Given the description of an element on the screen output the (x, y) to click on. 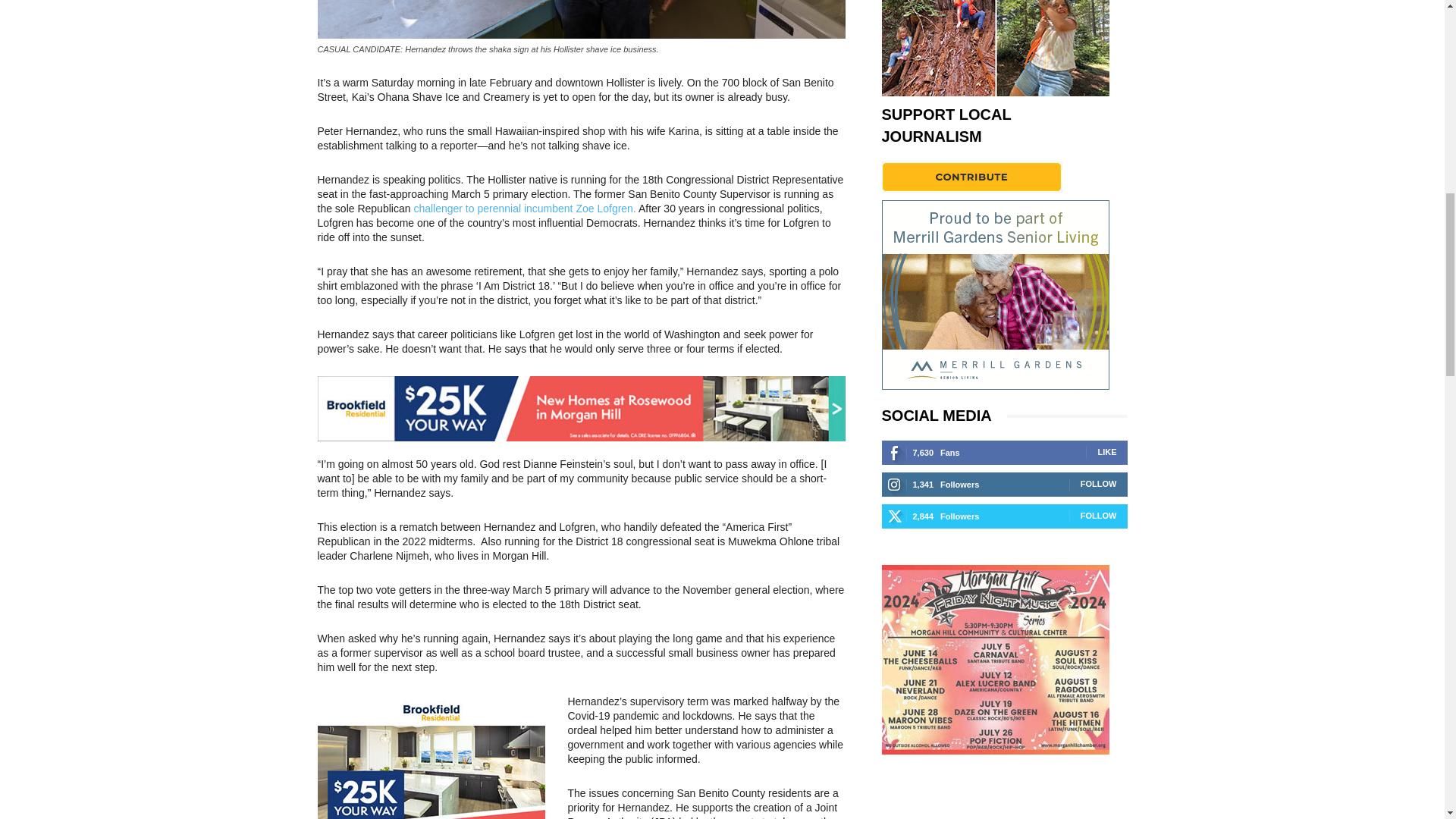
PeterHernandez2 (580, 19)
